Given the description of an element on the screen output the (x, y) to click on. 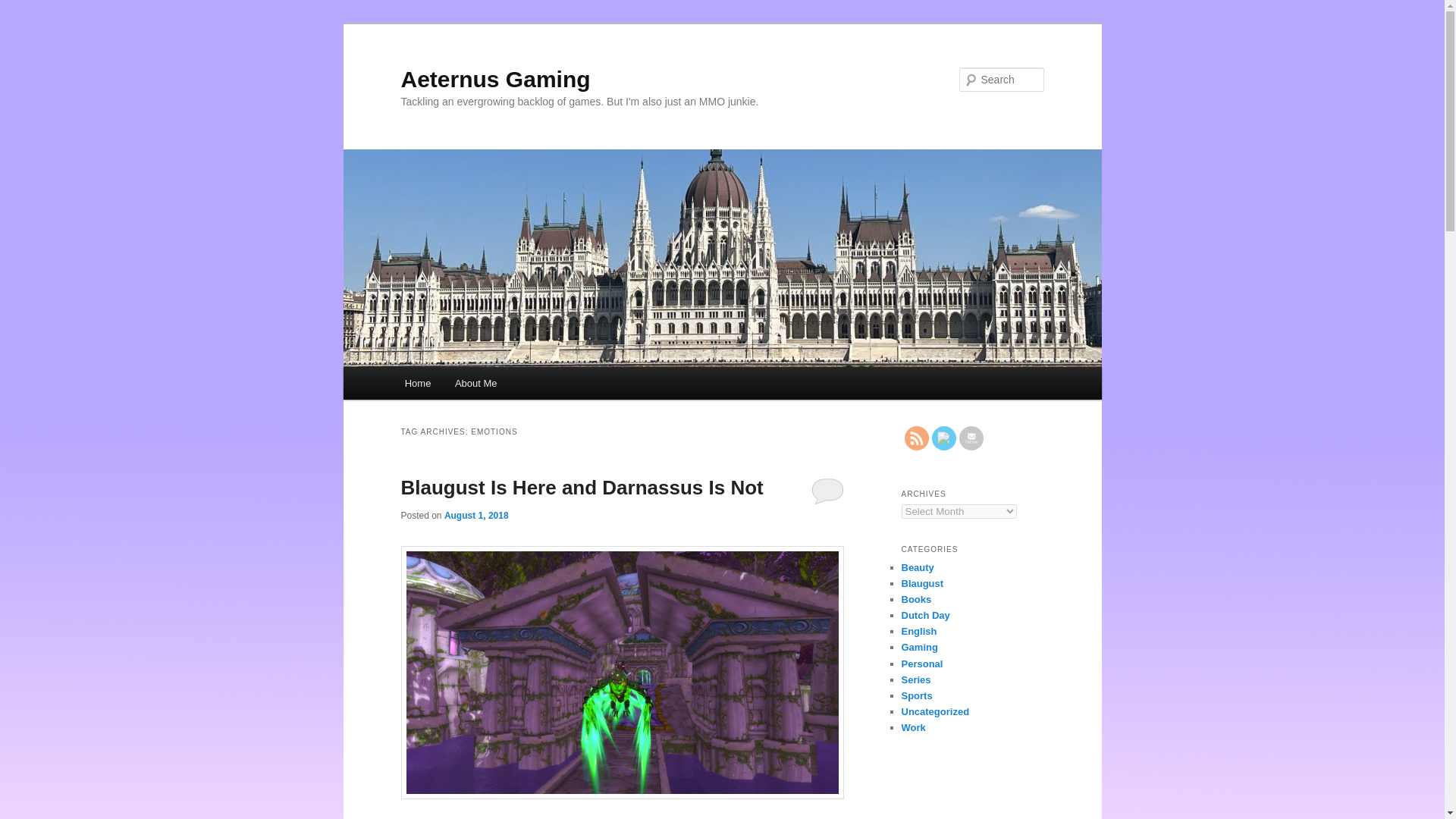
Blaugust Is Here and Darnassus Is Not (581, 486)
Home (417, 382)
Aeternus Gaming (494, 78)
August 1, 2018 (476, 515)
Search (24, 8)
Blaugust (922, 583)
Twitter (943, 438)
RSS (916, 438)
7:08 pm (476, 515)
About Me (475, 382)
Beauty (917, 567)
Follow by Email (970, 438)
